Given the description of an element on the screen output the (x, y) to click on. 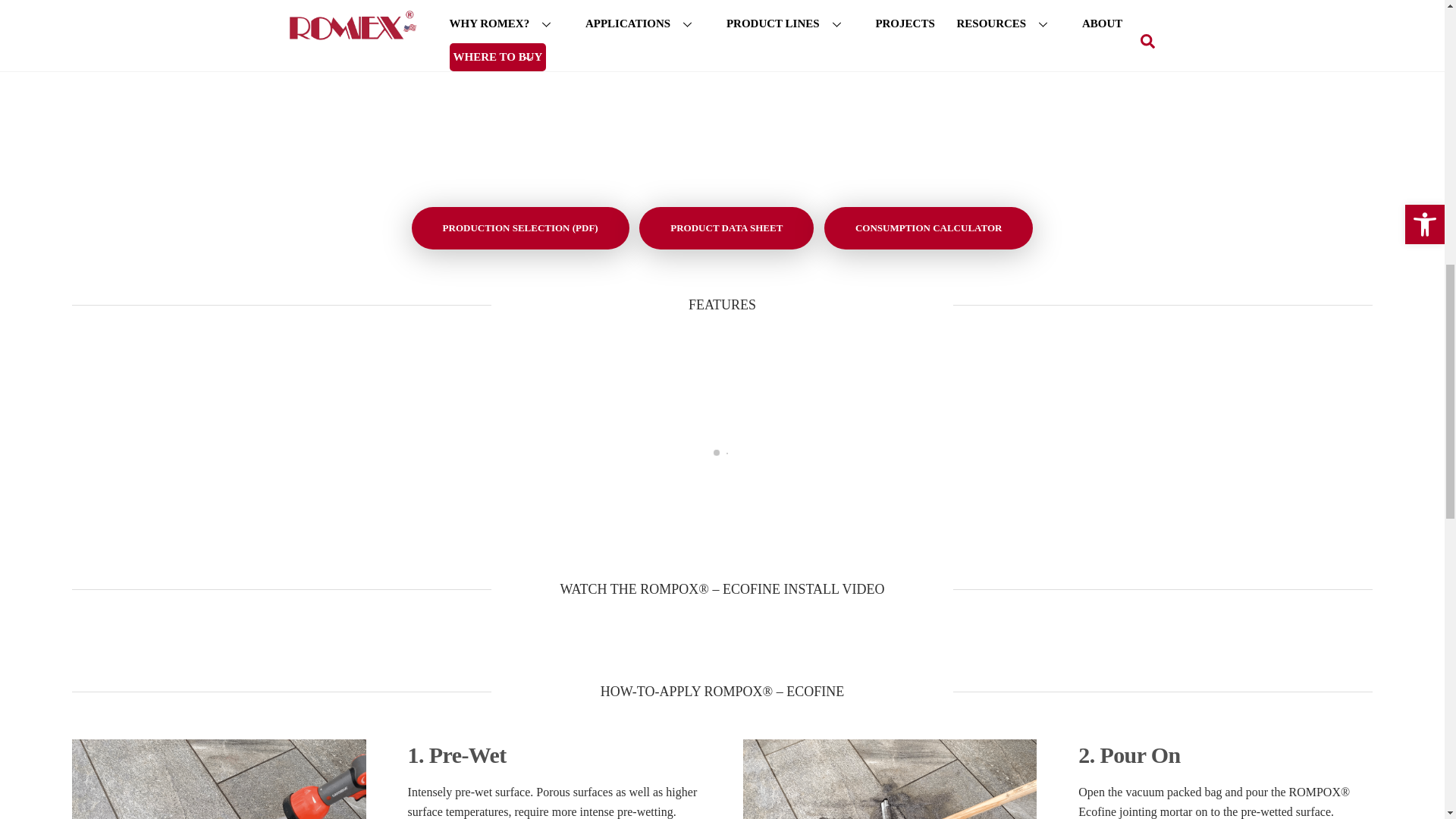
2 (889, 779)
ECOFINE-01-1024x1024 (386, 90)
1 (218, 779)
